Given the description of an element on the screen output the (x, y) to click on. 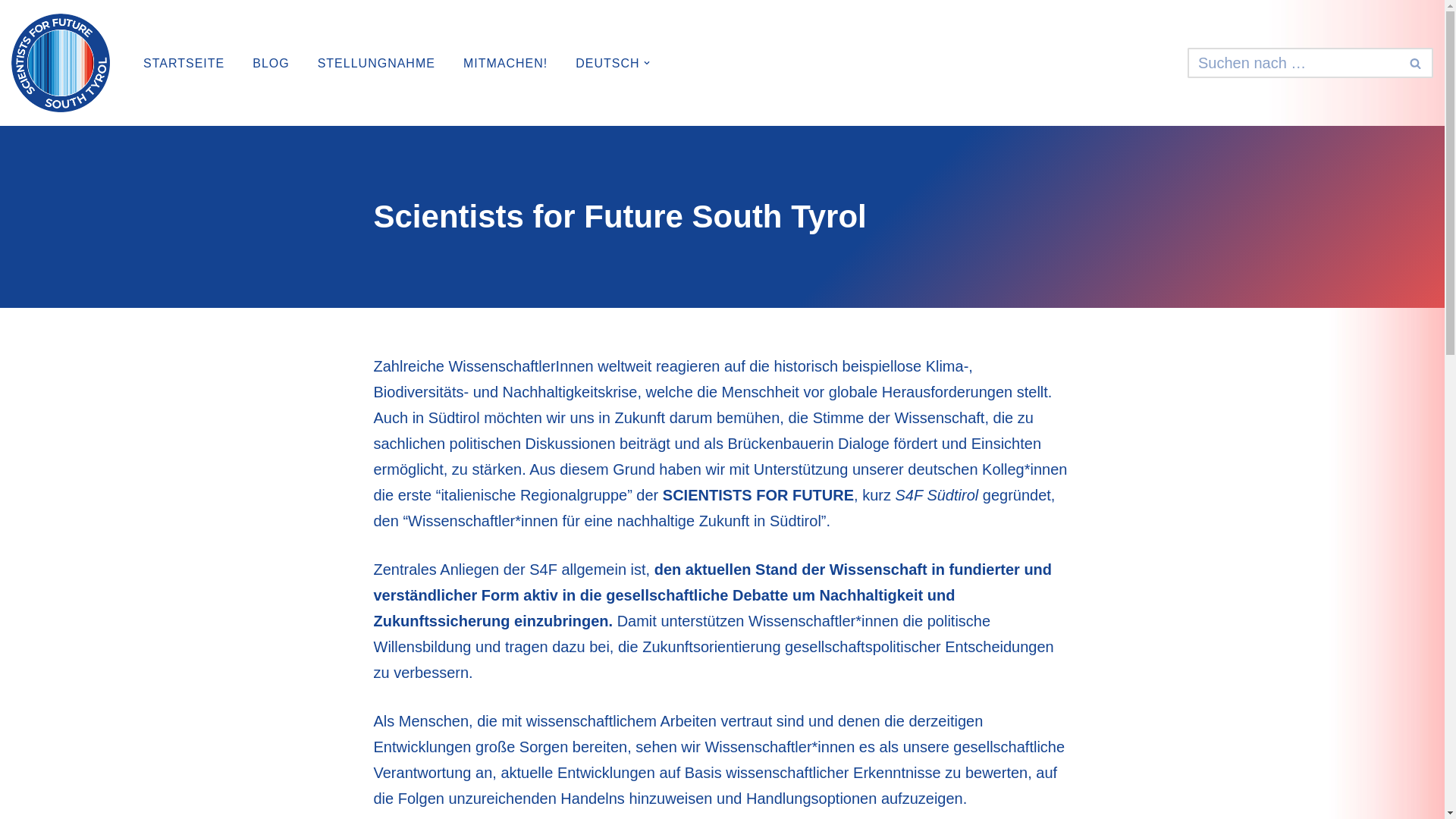
BLOG Element type: text (270, 63)
STARTSEITE Element type: text (183, 63)
STELLUNGNAHME Element type: text (376, 63)
MITMACHEN! Element type: text (505, 63)
DEUTSCH Element type: text (607, 63)
Zum Inhalt springen Element type: text (11, 31)
